Given the description of an element on the screen output the (x, y) to click on. 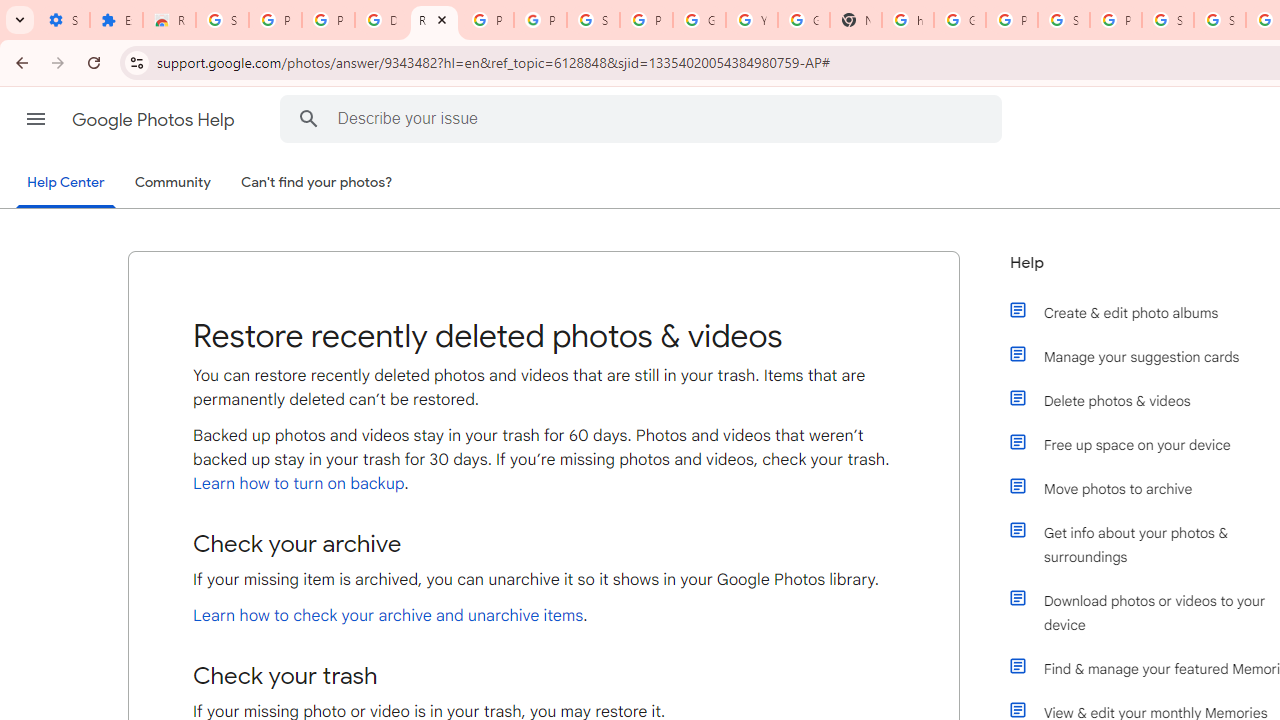
Help Center (65, 183)
Sign in - Google Accounts (222, 20)
New Tab (855, 20)
Community (171, 183)
Sign in - Google Accounts (1167, 20)
Sign in - Google Accounts (1064, 20)
Sign in - Google Accounts (593, 20)
